Given the description of an element on the screen output the (x, y) to click on. 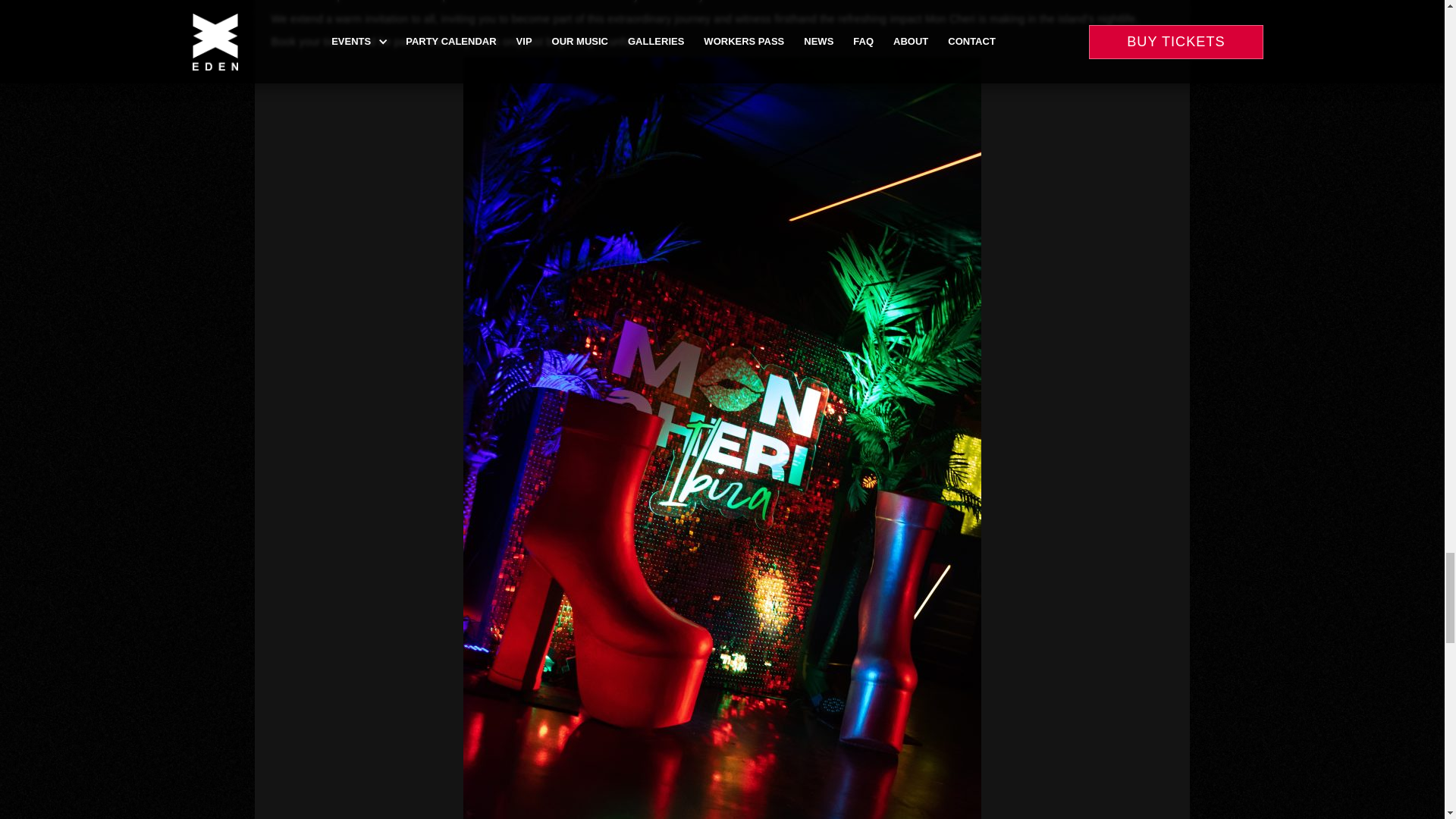
Book your tickets (312, 41)
